Given the description of an element on the screen output the (x, y) to click on. 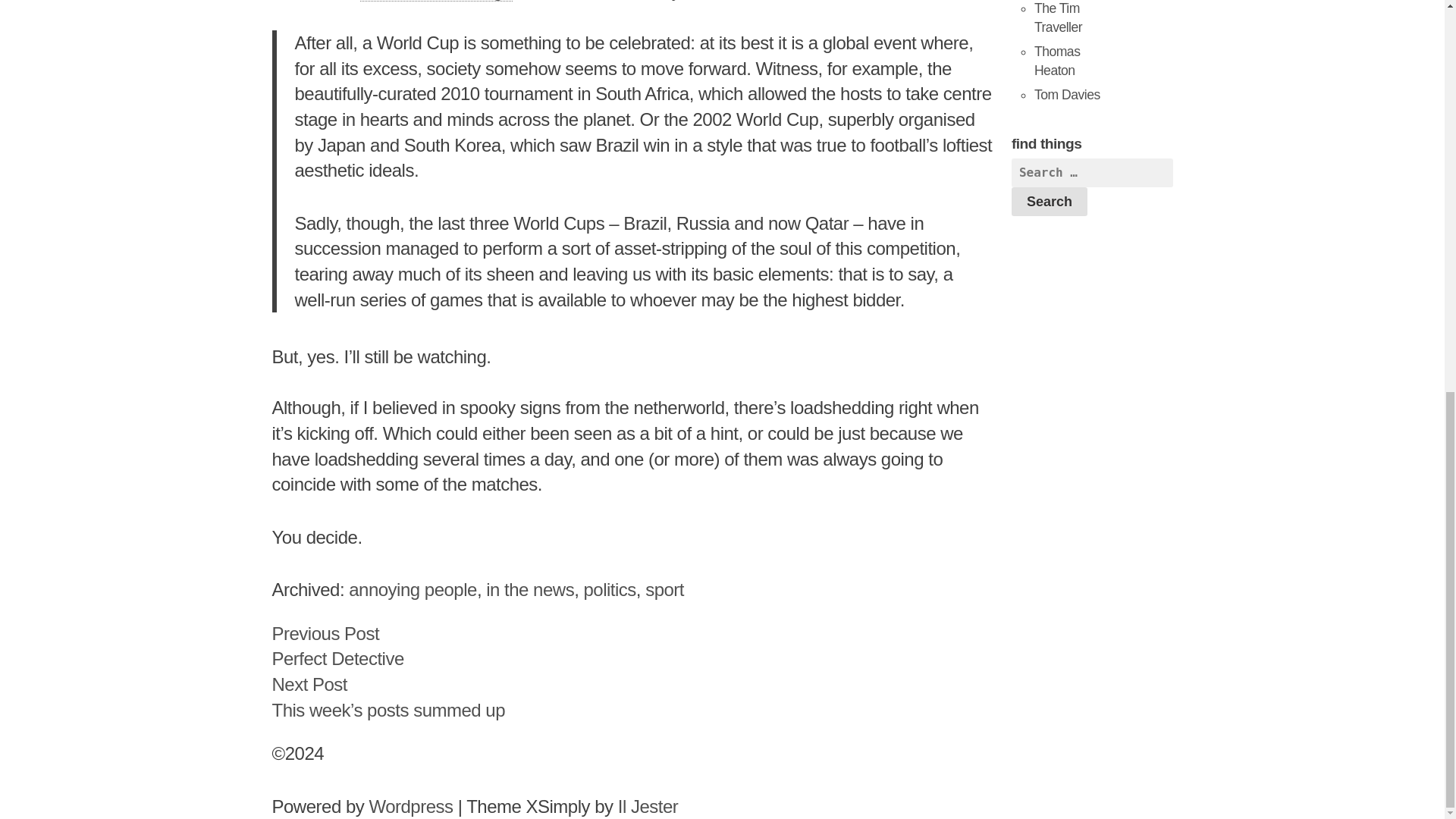
annoying people (413, 589)
Geoguessr God (1066, 94)
politics (608, 589)
Tom Davies (1066, 94)
sport (664, 589)
Search (1049, 201)
in the news (529, 589)
like Musa Okwonga (336, 646)
